Given the description of an element on the screen output the (x, y) to click on. 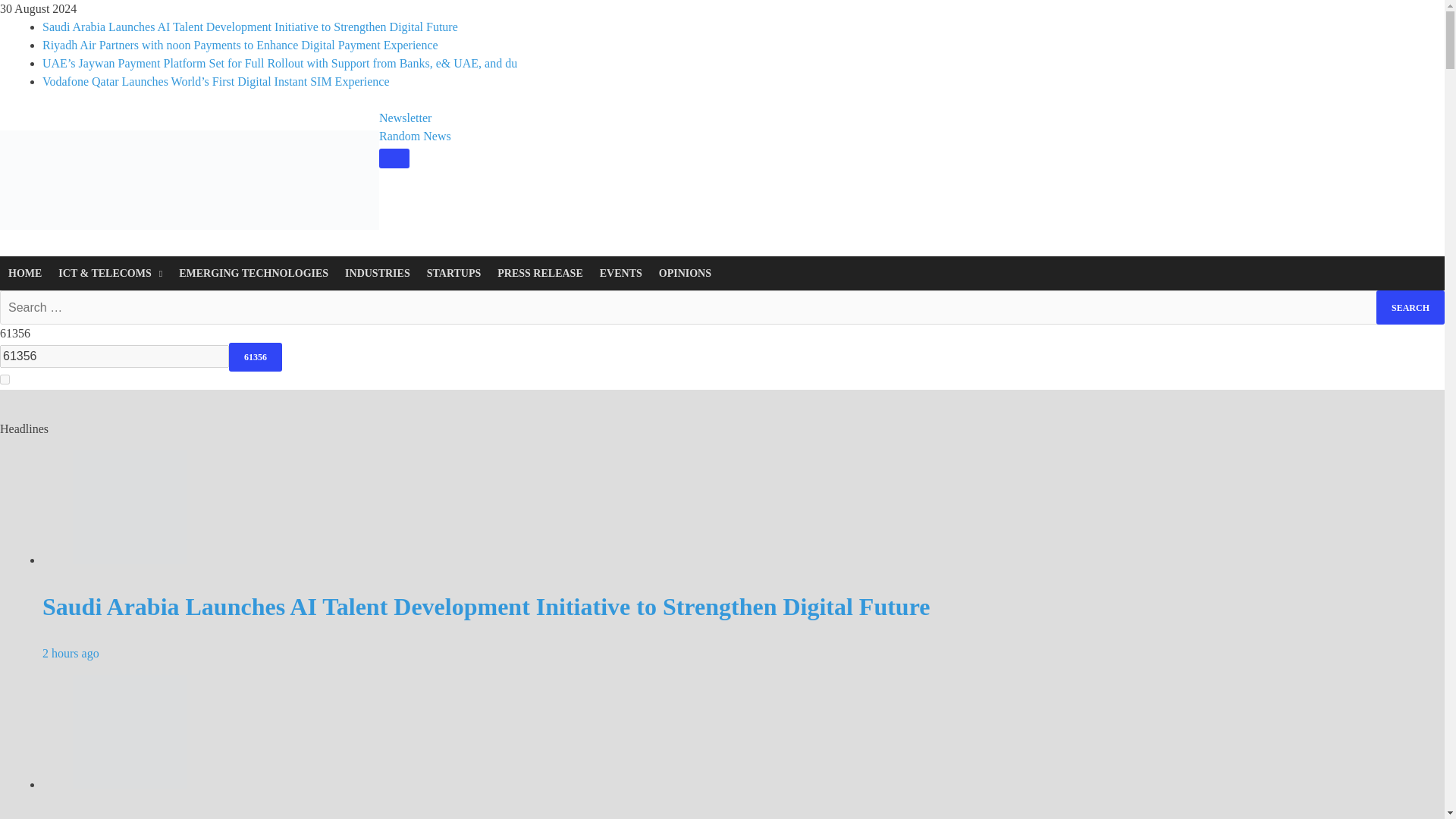
STARTUPS (454, 273)
61356 (255, 357)
61356 (255, 357)
INDUSTRIES (377, 273)
